Given the description of an element on the screen output the (x, y) to click on. 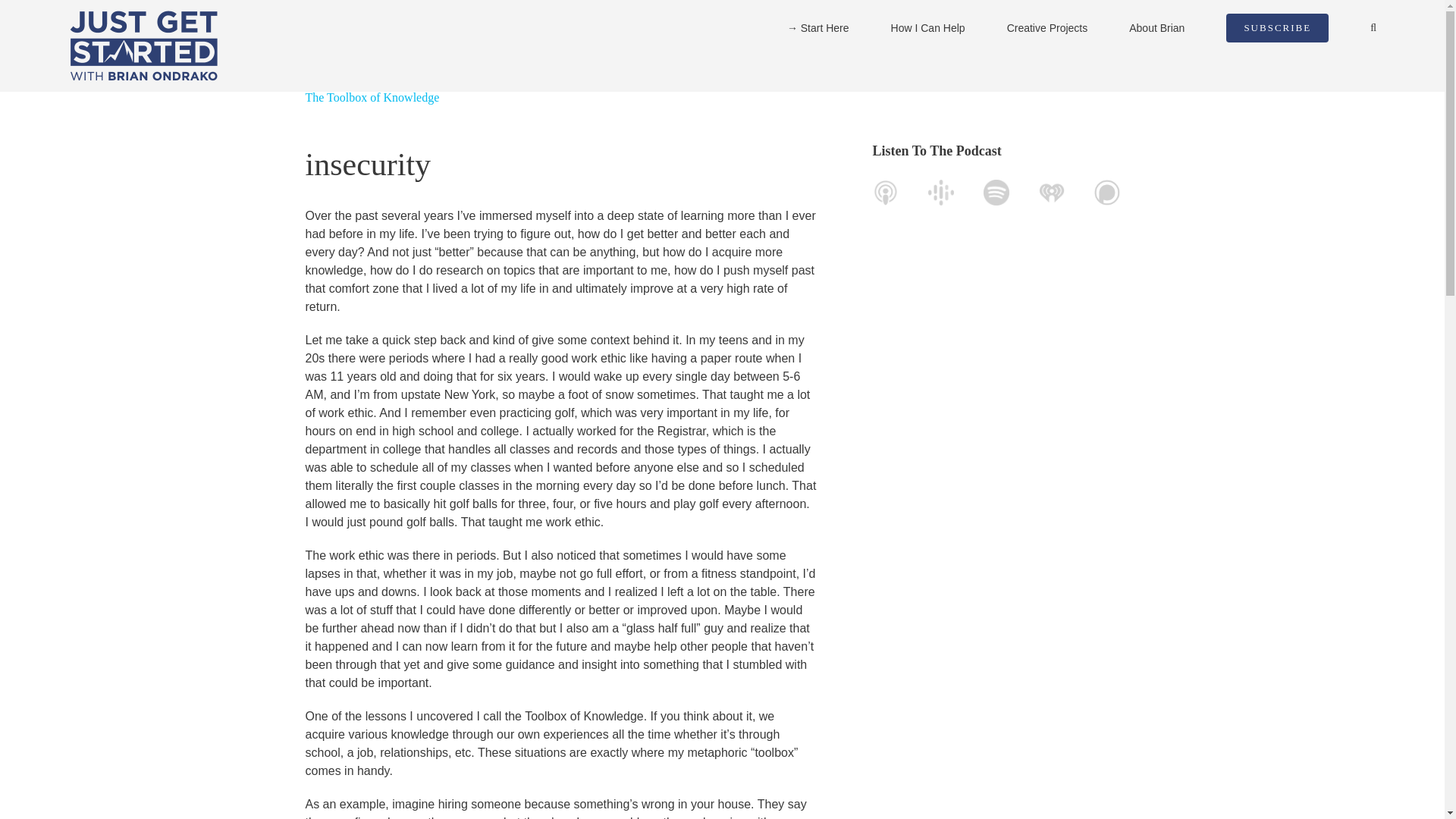
SUBSCRIBE (1276, 28)
How I Can Help (928, 28)
About Brian (1157, 28)
Creative Projects (1047, 28)
